Given the description of an element on the screen output the (x, y) to click on. 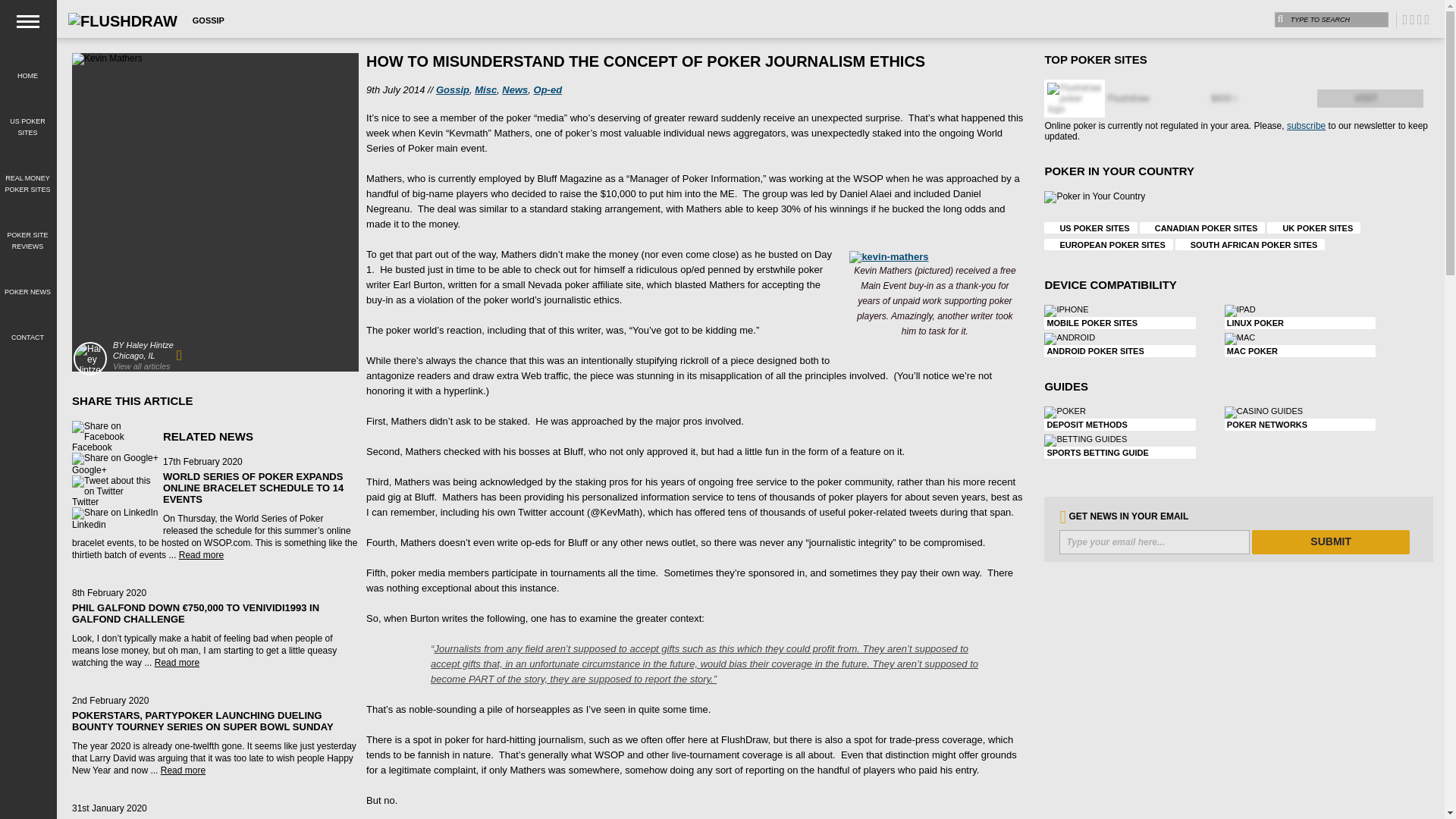
Linkedin (117, 524)
LinkedIn (114, 512)
Facebook (117, 431)
HOME (28, 66)
Twitter (117, 501)
SUBMIT (1330, 541)
GOSSIP (207, 20)
View all articles (141, 366)
Twitter (117, 485)
